Given the description of an element on the screen output the (x, y) to click on. 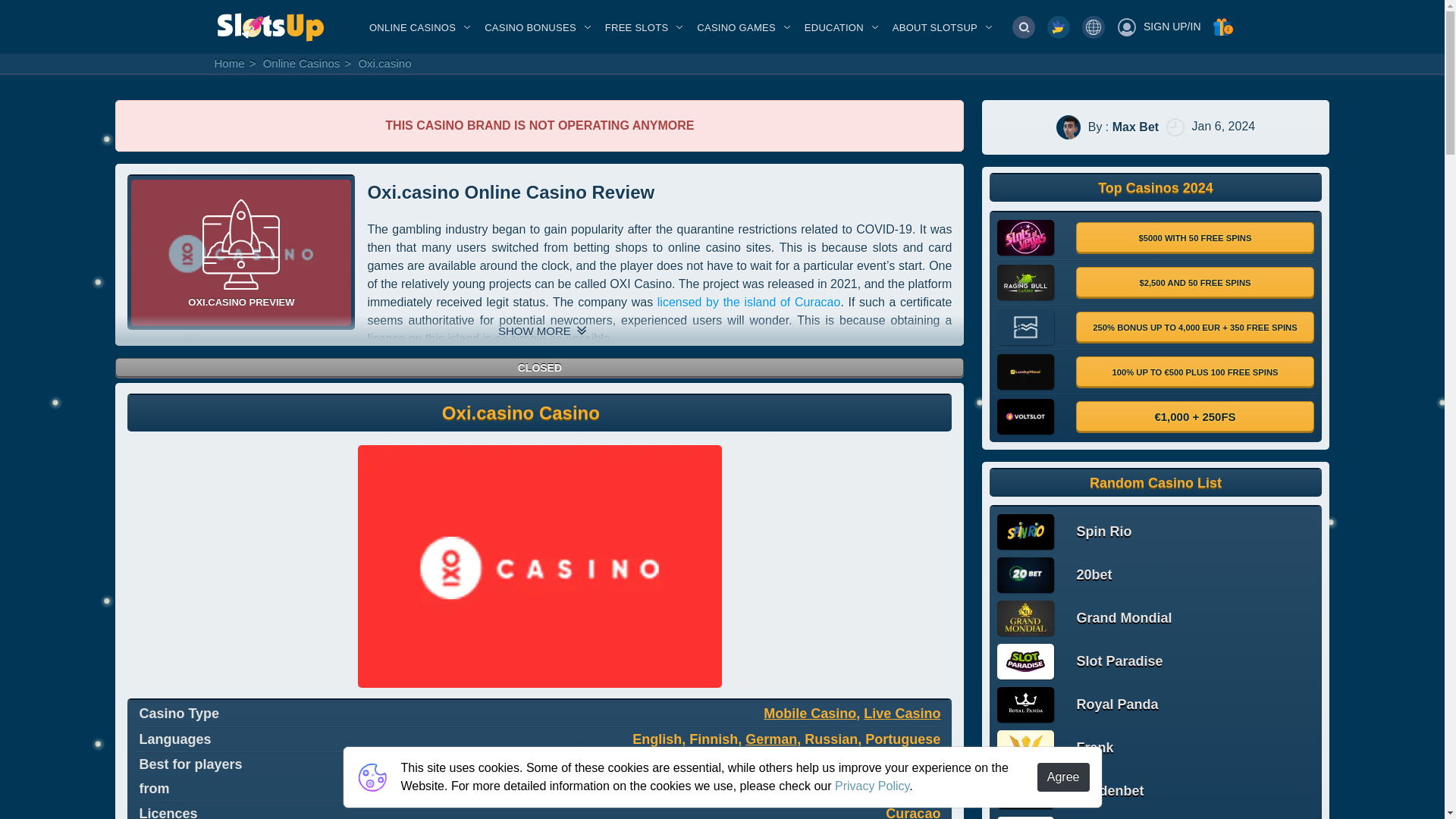
ONLINE CASINOS (412, 27)
CASINO BONUSES (530, 27)
